Given the description of an element on the screen output the (x, y) to click on. 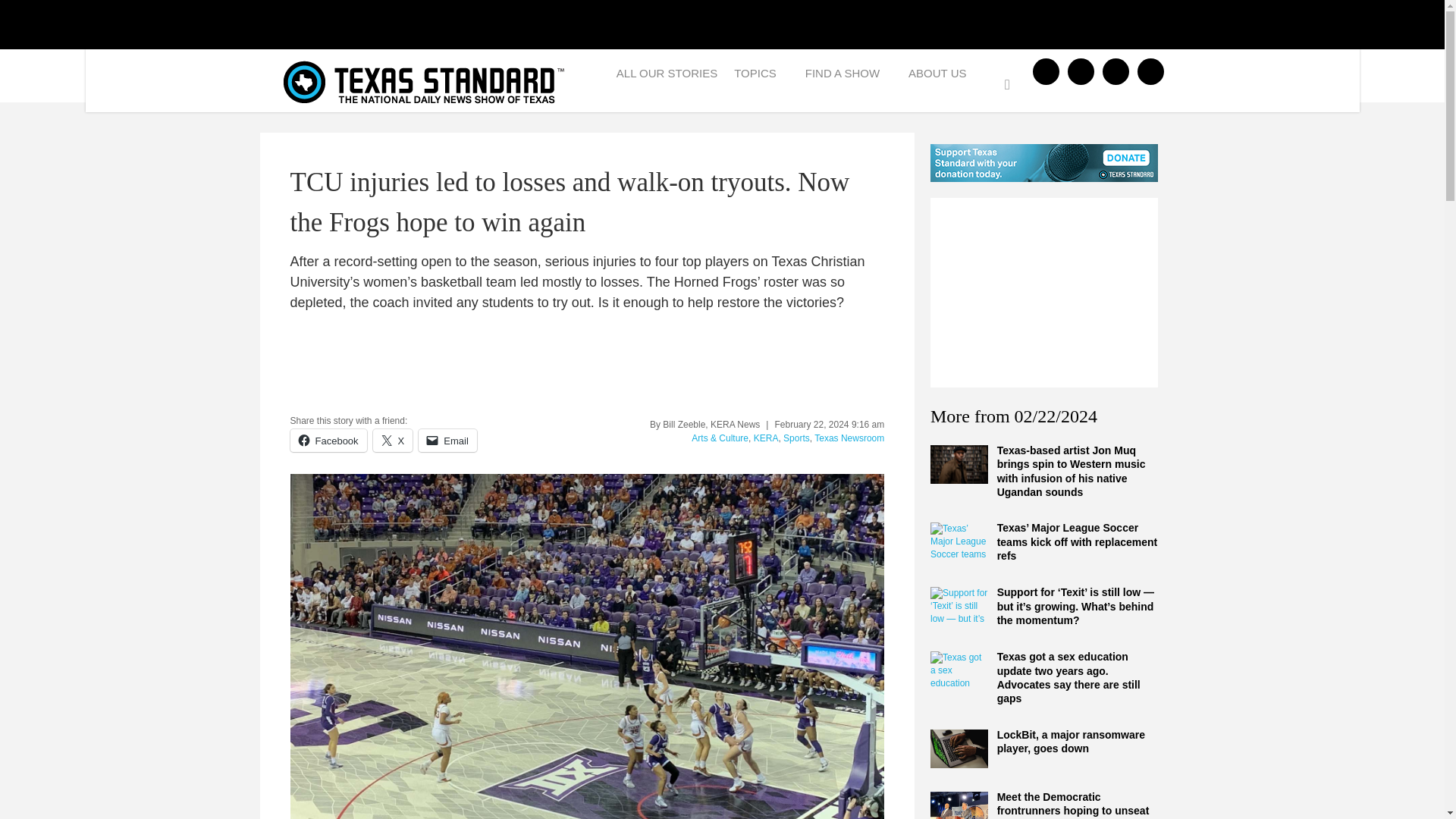
Click to share on X (392, 440)
ALL OUR STORIES (666, 77)
TOPICS (761, 77)
Click to share on Facebook (327, 440)
Click to email a link to a friend (448, 440)
